Given the description of an element on the screen output the (x, y) to click on. 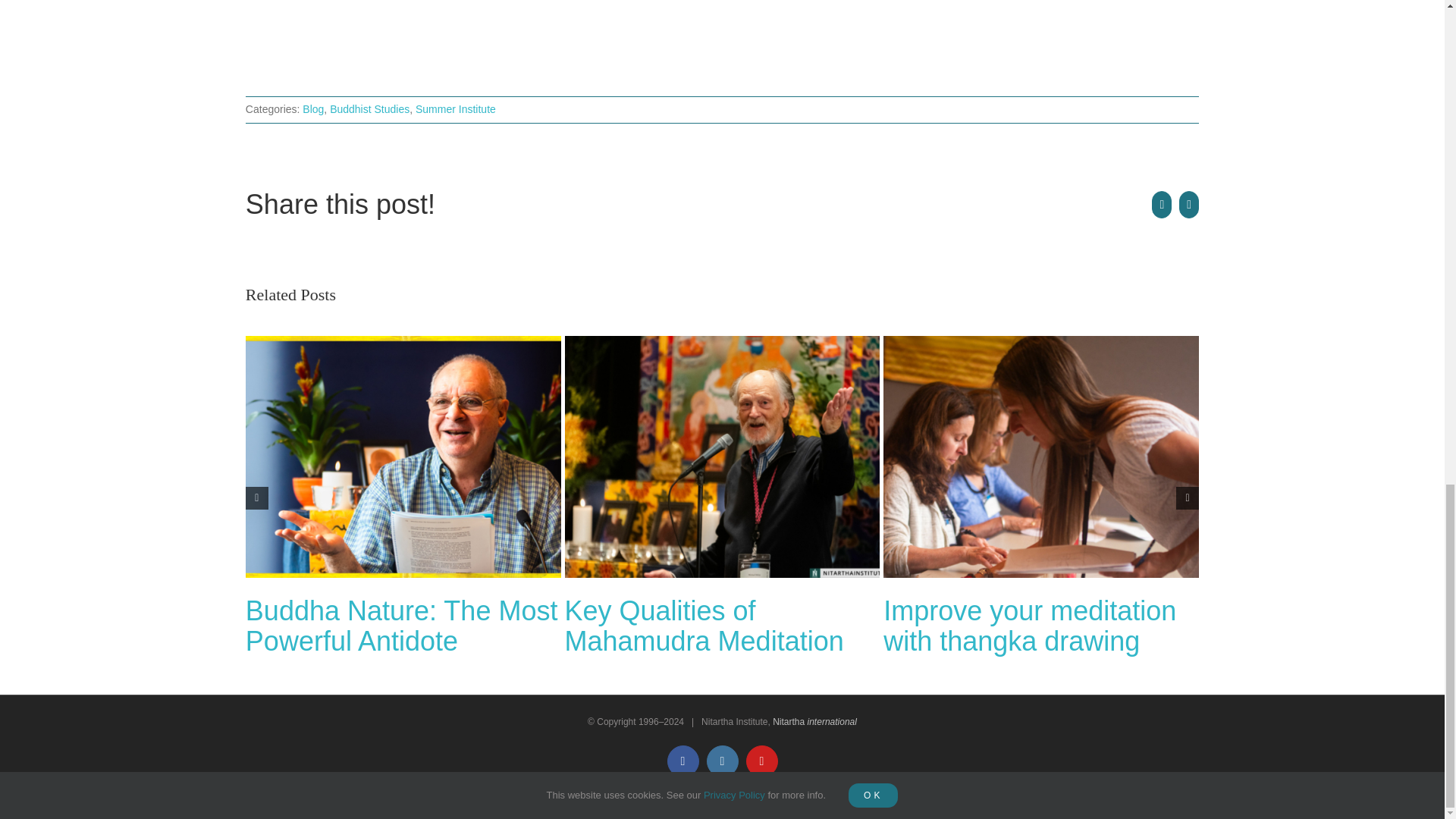
Buddha Nature: The Most Powerful Antidote (401, 625)
